Given the description of an element on the screen output the (x, y) to click on. 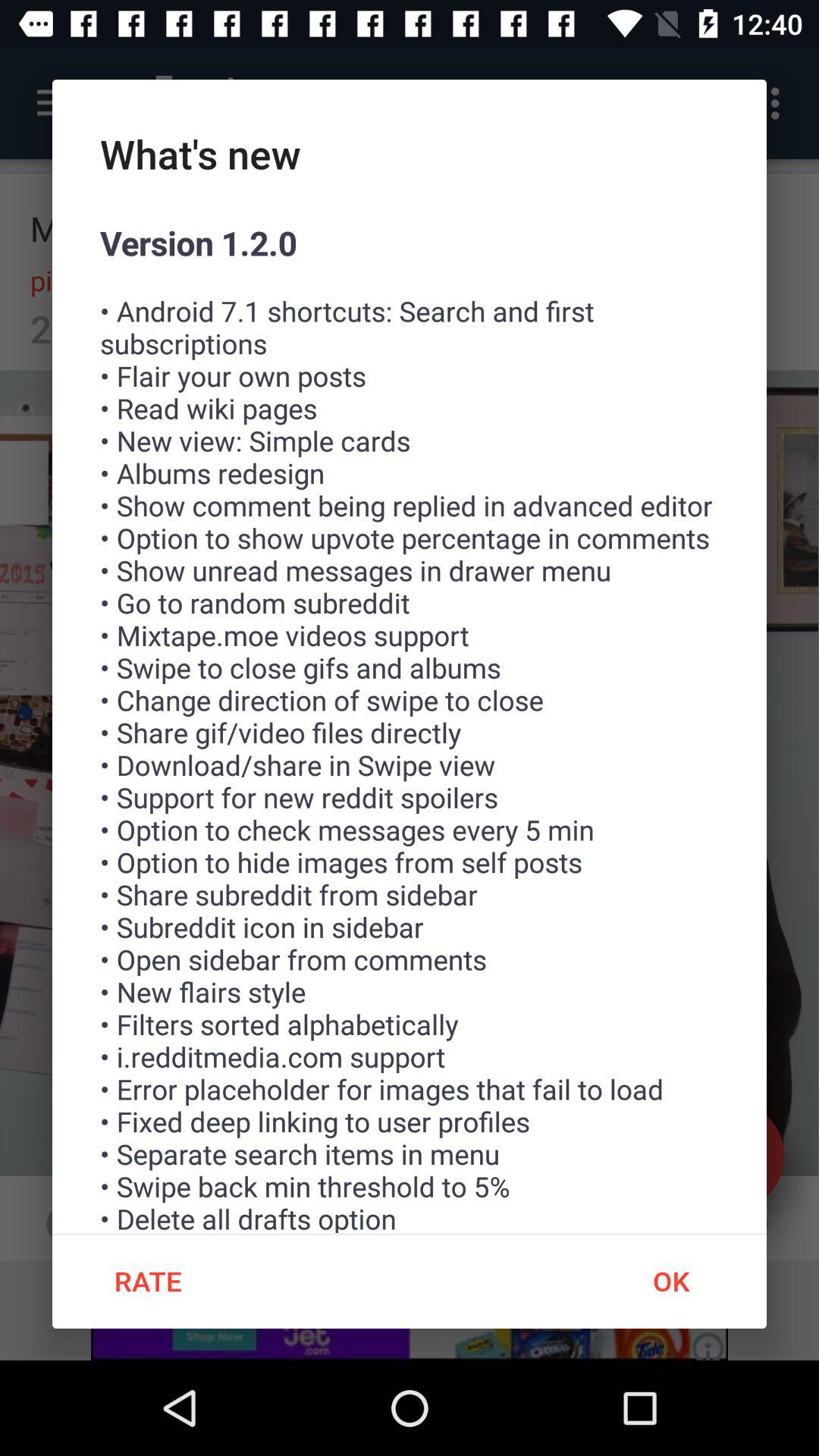
tap the ok icon (670, 1280)
